Given the description of an element on the screen output the (x, y) to click on. 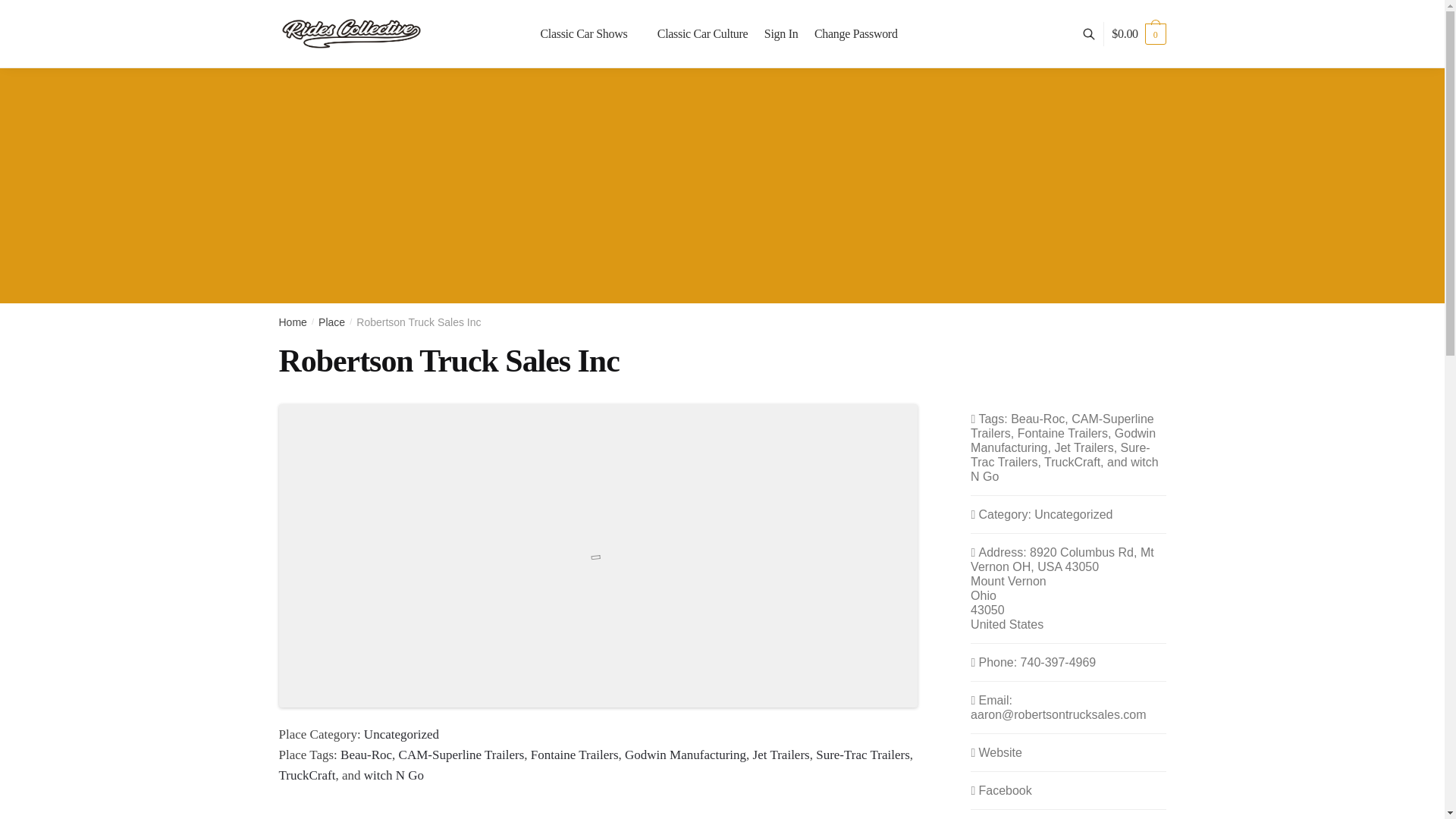
Change Password (856, 33)
View your shopping cart (1139, 33)
CAM-Superline Trailers (461, 754)
Classic Car Culture (702, 33)
Home (293, 322)
Fontaine Trailers (574, 754)
Beau-Roc (365, 754)
Classic Car Shows (593, 33)
Place (331, 322)
